Given the description of an element on the screen output the (x, y) to click on. 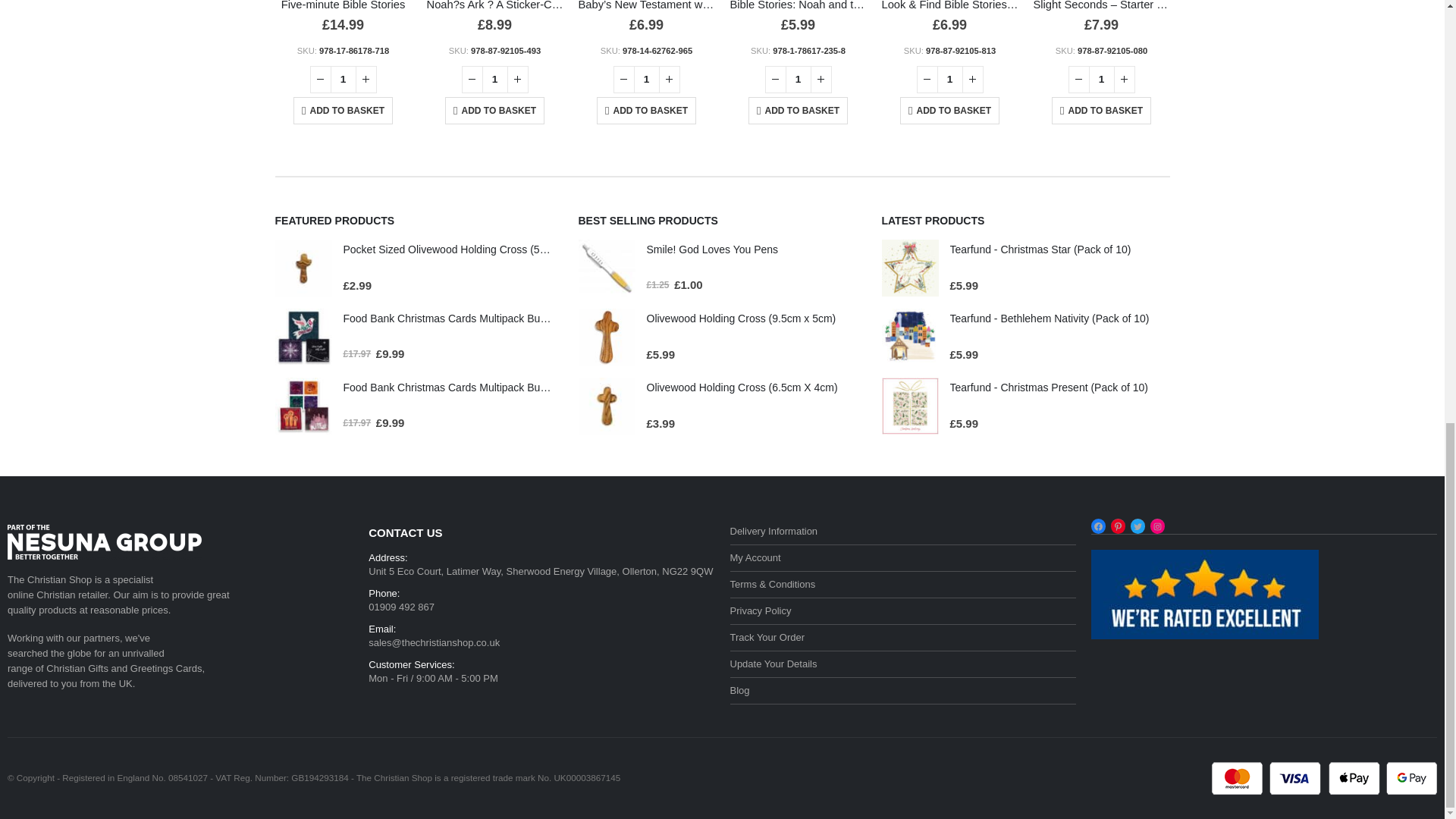
1 (343, 79)
1 (949, 79)
1 (646, 79)
1 (494, 79)
1 (798, 79)
1 (1102, 79)
